Given the description of an element on the screen output the (x, y) to click on. 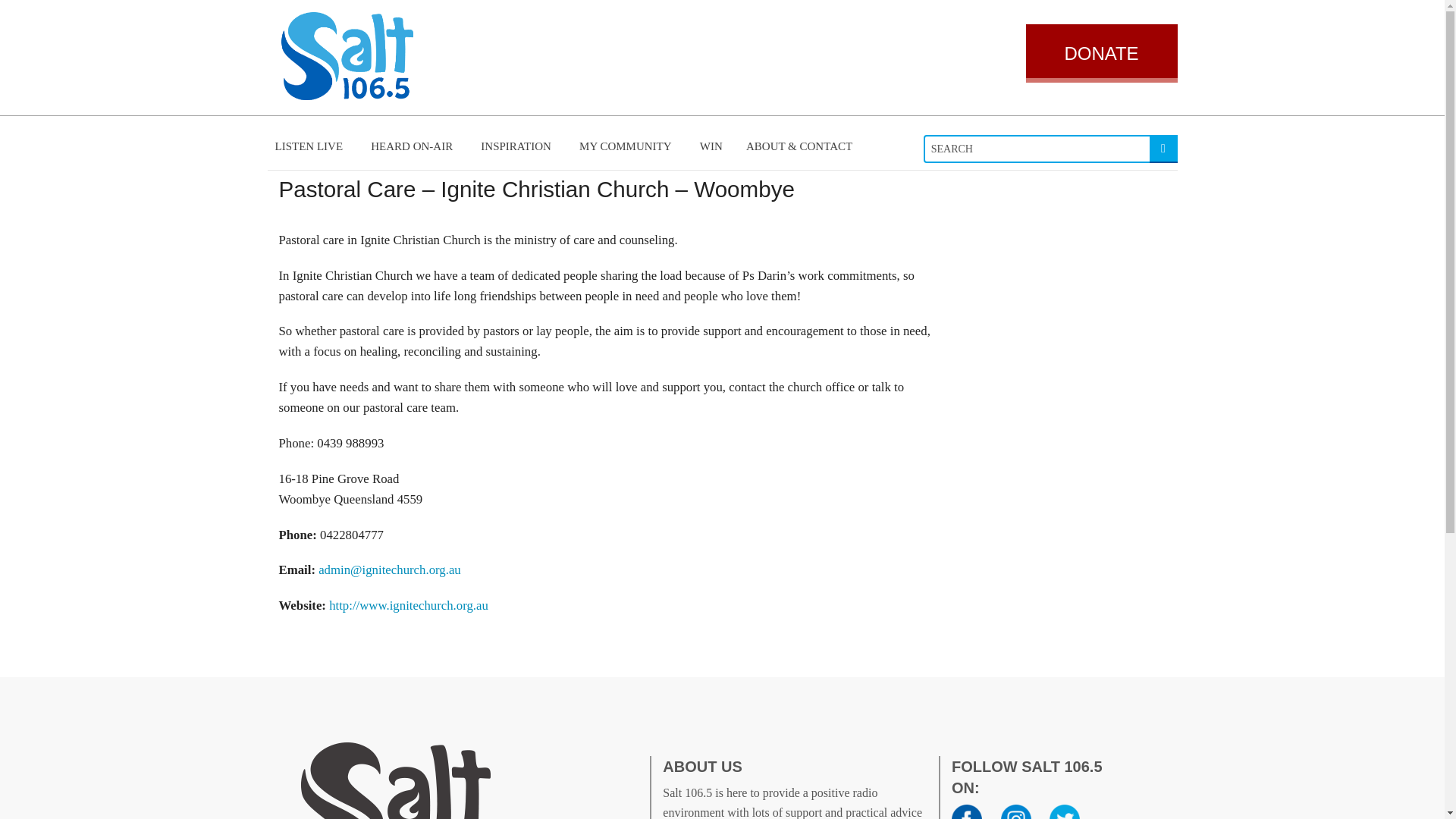
INSPIRATION (518, 146)
DONATE (1100, 53)
HEARD ON-AIR (413, 146)
LISTEN LIVE (310, 146)
WIN (711, 146)
MY COMMUNITY (628, 146)
